Given the description of an element on the screen output the (x, y) to click on. 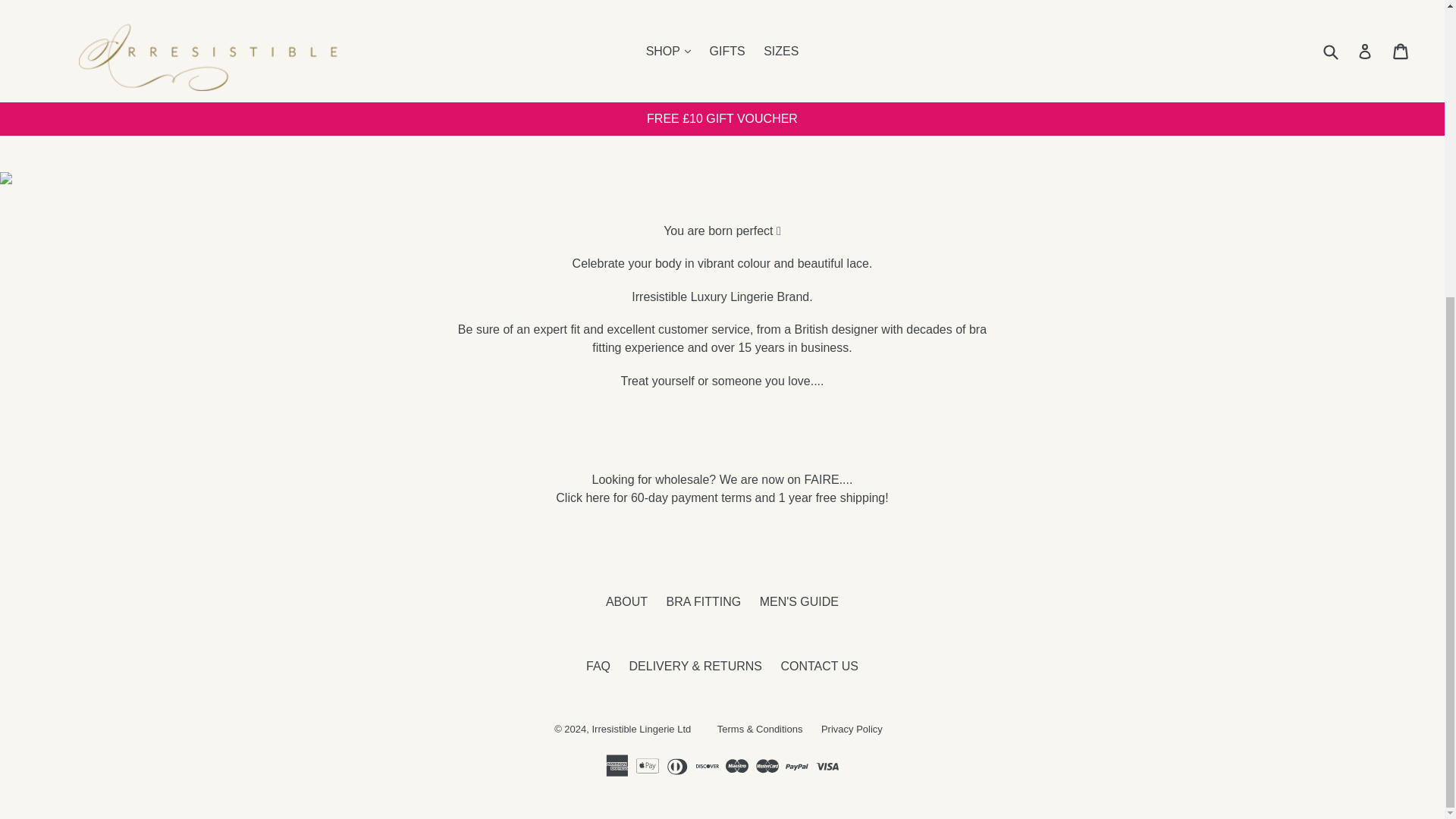
Send (409, 75)
Looking for wholesale? We are now on FAIRE.... (721, 479)
Send (409, 75)
